Given the description of an element on the screen output the (x, y) to click on. 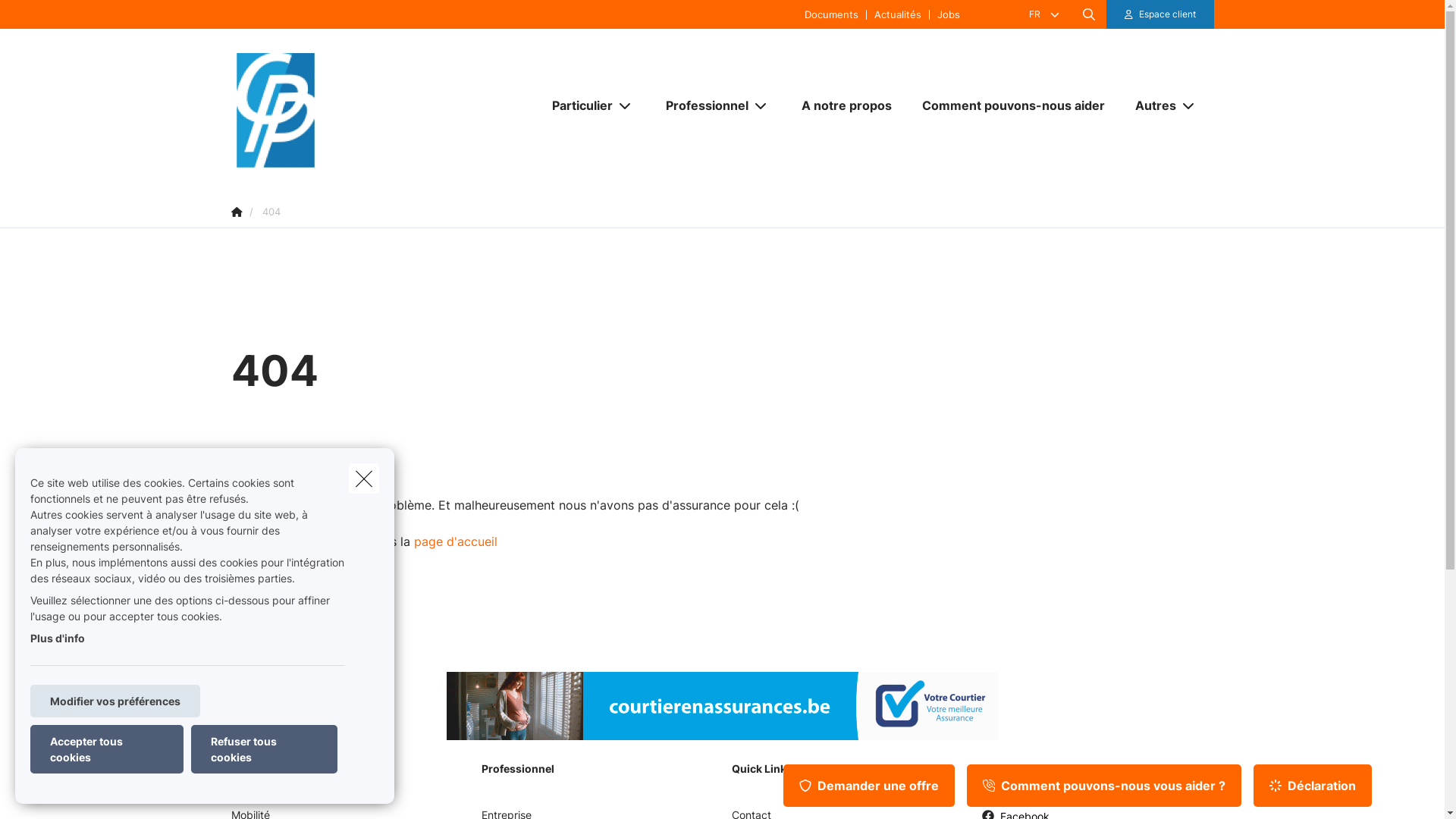
page d'accueil Element type: text (455, 541)
Accepter tous cookies Element type: text (106, 748)
Refuser tous cookies Element type: text (264, 748)
Demander une offre Element type: text (868, 785)
Rechercher Element type: text (54, 18)
Professionnel Element type: text (701, 104)
Plus d'info Element type: text (57, 637)
Particulier Element type: text (576, 104)
Comment pouvons-nous vous aider ? Element type: text (1103, 785)
Documents Element type: text (831, 13)
Comment pouvons-nous aider Element type: text (1013, 104)
Espace client Element type: text (1167, 14)
Jobs Element type: text (947, 13)
Espace client Element type: text (1160, 14)
A notre propos Element type: text (845, 104)
Autres Element type: text (1149, 104)
